Given the description of an element on the screen output the (x, y) to click on. 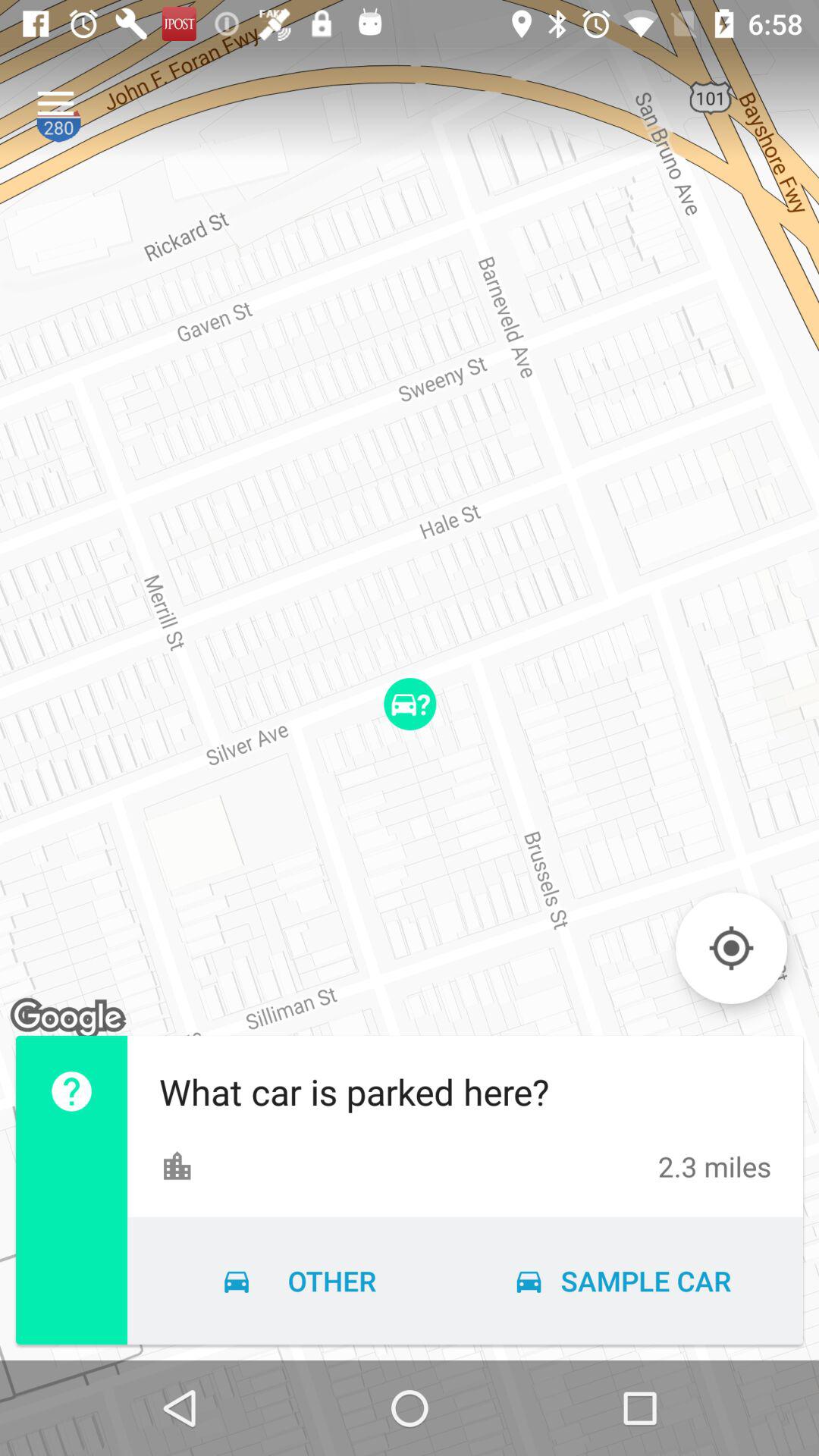
update to current gps location (731, 947)
